Given the description of an element on the screen output the (x, y) to click on. 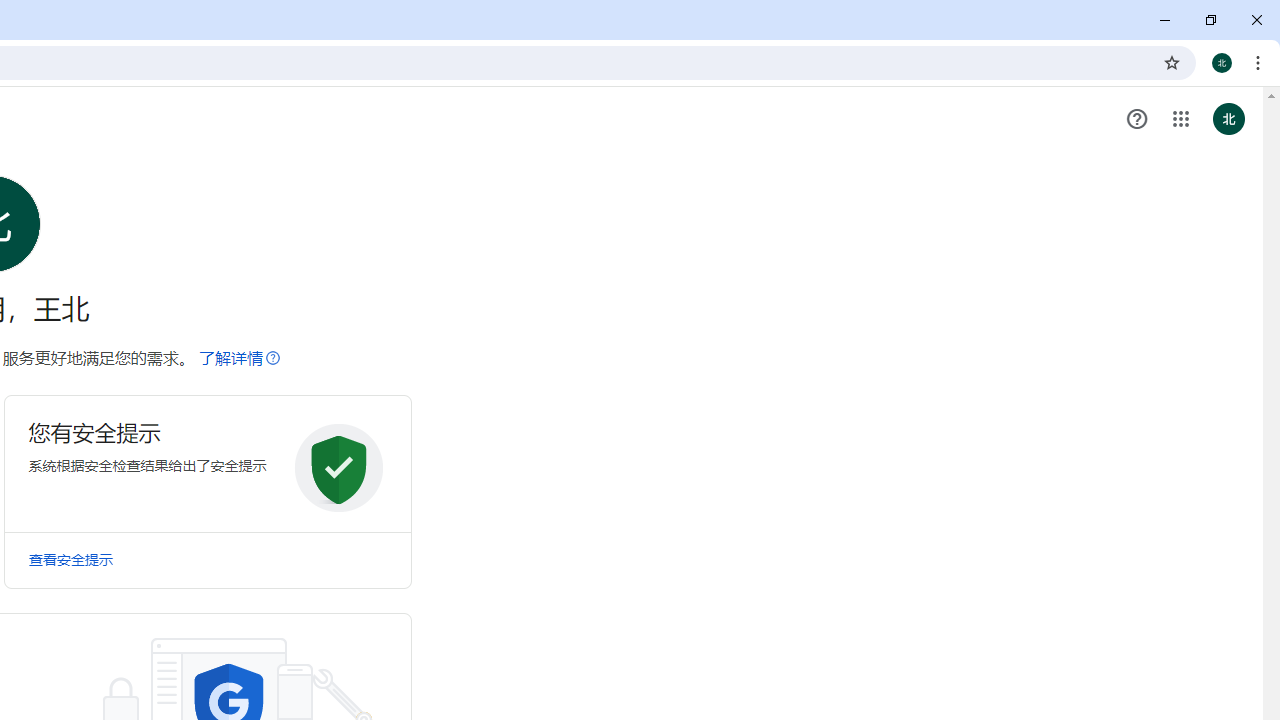
Restore (1210, 20)
Chrome (1260, 62)
Bookmark this tab (1171, 62)
Close (1256, 20)
Minimize (1165, 20)
